Given the description of an element on the screen output the (x, y) to click on. 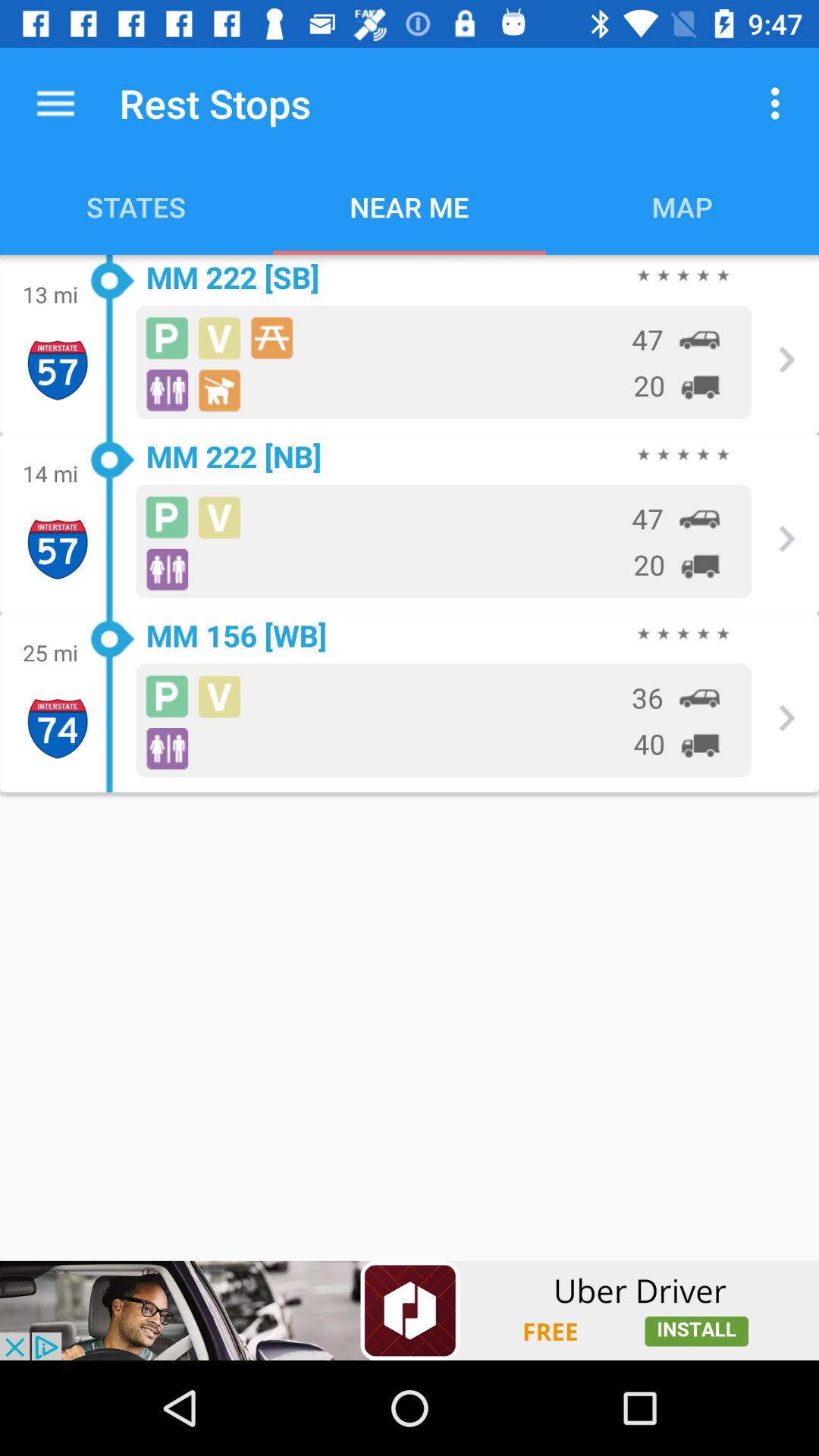
view the advertisement (409, 1310)
